Given the description of an element on the screen output the (x, y) to click on. 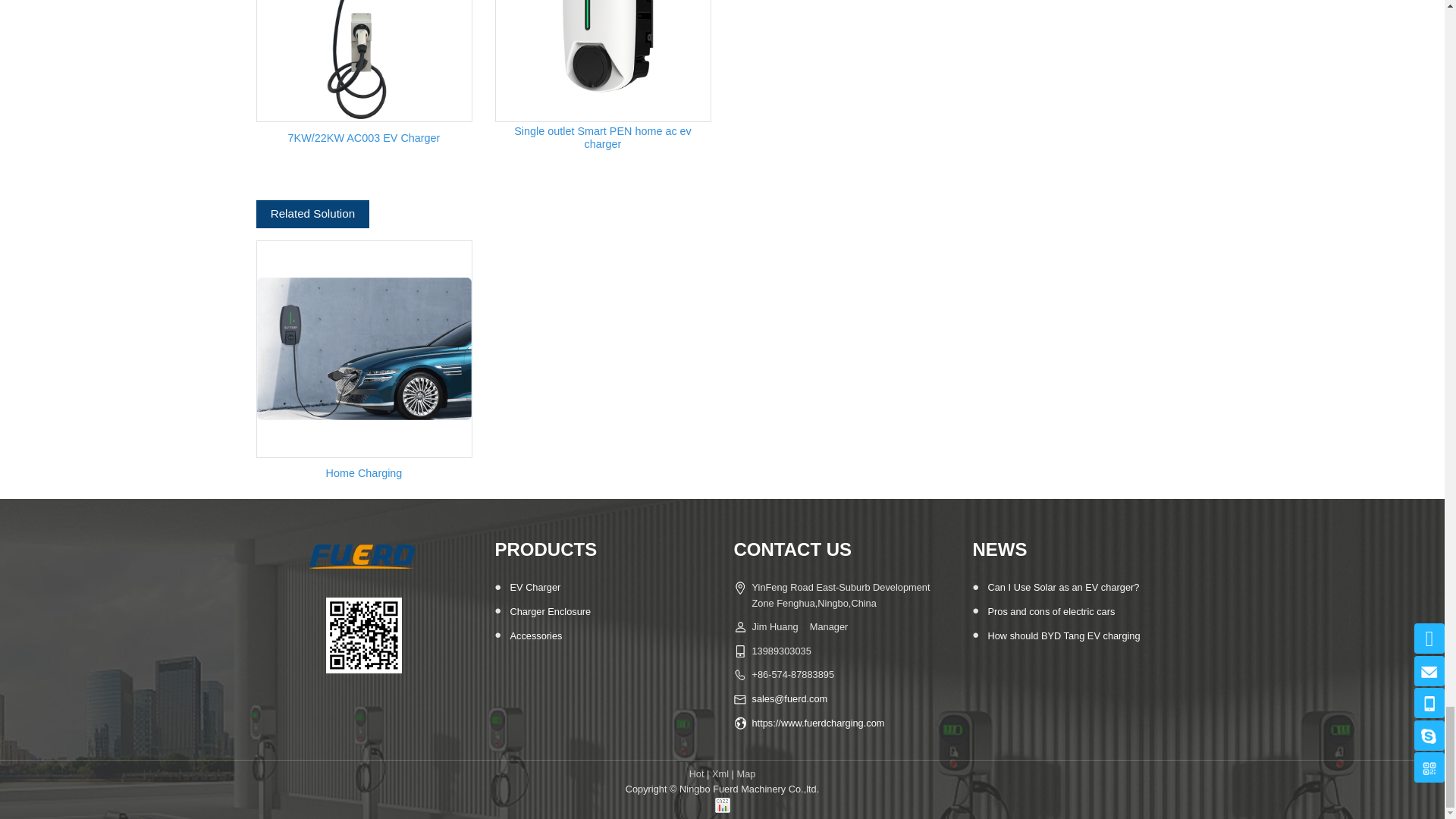
Charger Enclosure (550, 611)
Pros and cons of electric cars (1051, 611)
Single outlet Smart PEN home ac ev charger (603, 60)
How should BYD Tang EV charging (1063, 635)
Accessories (535, 635)
Can I Use Solar as an EV charger? (1062, 586)
Home Charging (364, 472)
Home Charging (363, 348)
EV Charger (534, 586)
Single outlet Smart PEN home ac ev charger (602, 138)
